Given the description of an element on the screen output the (x, y) to click on. 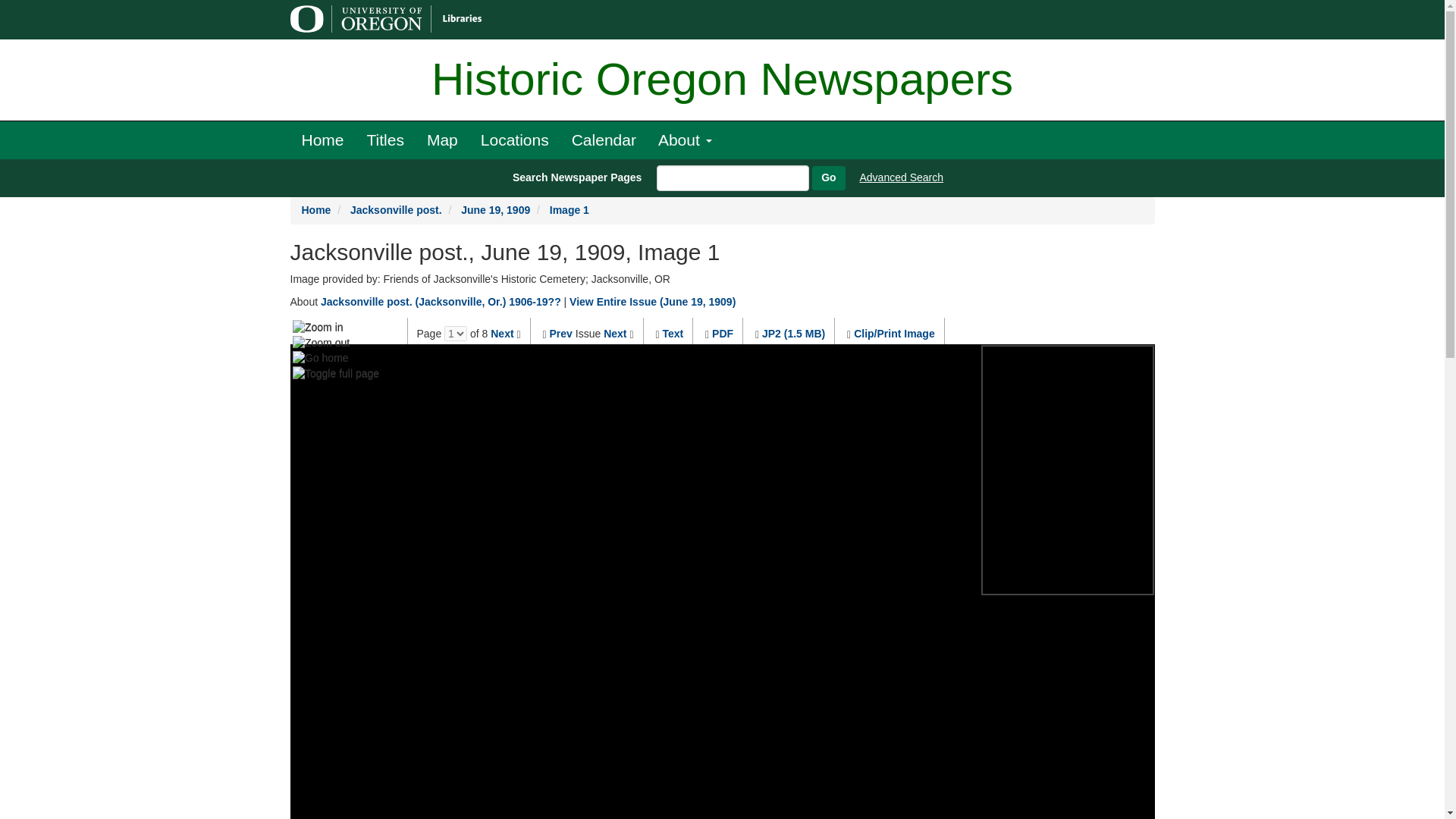
Text (672, 333)
Toggle full page (335, 373)
Prev (561, 333)
Map (441, 139)
Jacksonville post. (396, 209)
June 19, 1909 (495, 209)
Advanced Search (901, 177)
Historic Oregon Newspapers (721, 79)
PDF (722, 333)
Locations (514, 139)
